Given the description of an element on the screen output the (x, y) to click on. 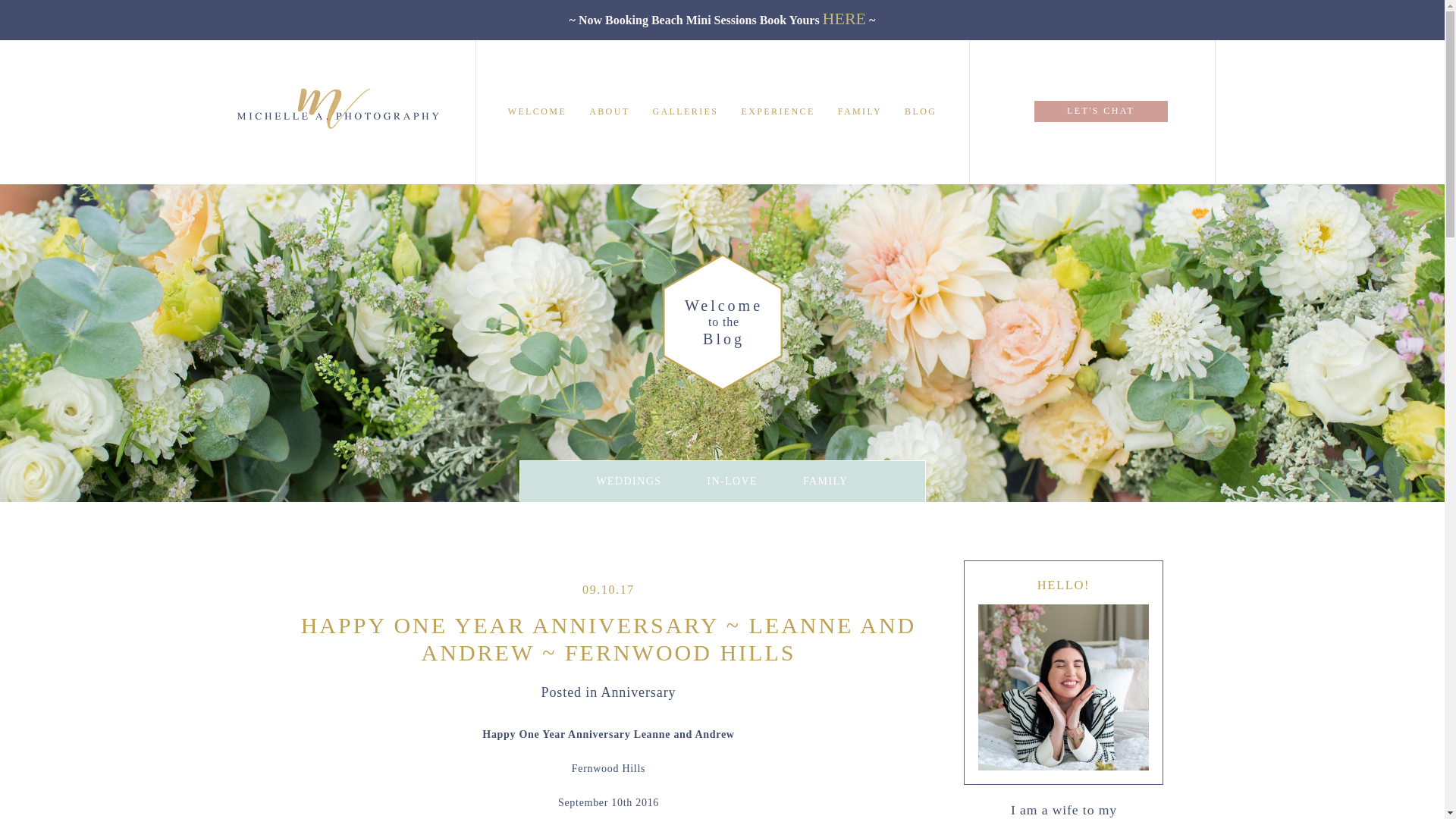
ABOUT (608, 111)
BLOG (920, 111)
GALLERIES (684, 111)
EXPERIENCE (777, 111)
LET'S CHAT (1100, 111)
FAMILY (825, 480)
Anniversary (639, 692)
WEDDINGS (628, 480)
HERE (844, 18)
FAMILY (860, 111)
WELCOME (537, 111)
IN-LOVE (731, 480)
